Given the description of an element on the screen output the (x, y) to click on. 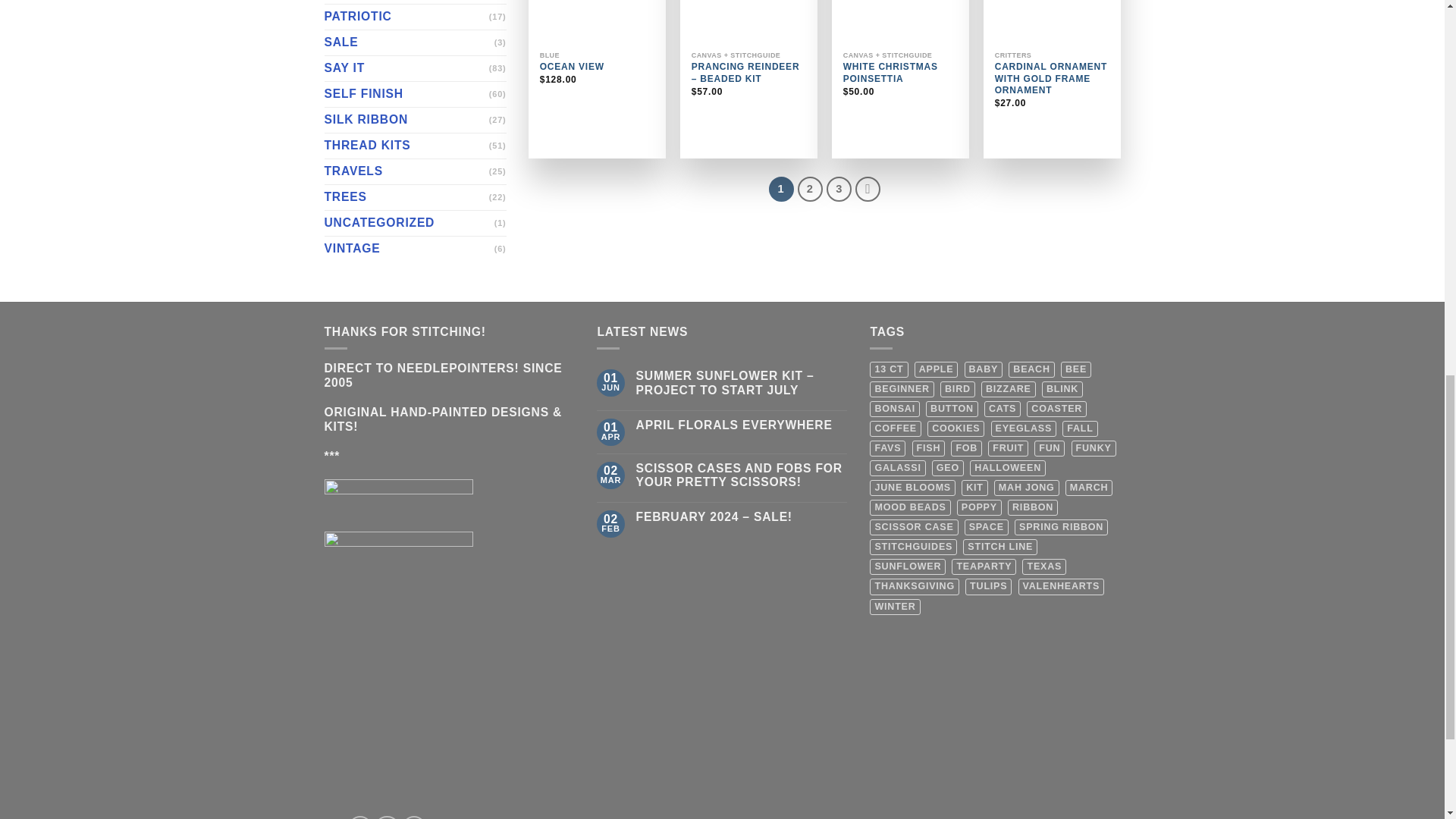
Follow on Instagram (386, 817)
Scissor Cases and Fobs for your pretty scissors! (741, 475)
April Florals Everywhere (741, 425)
Follow on Facebook (359, 817)
Send us an email (413, 817)
